Given the description of an element on the screen output the (x, y) to click on. 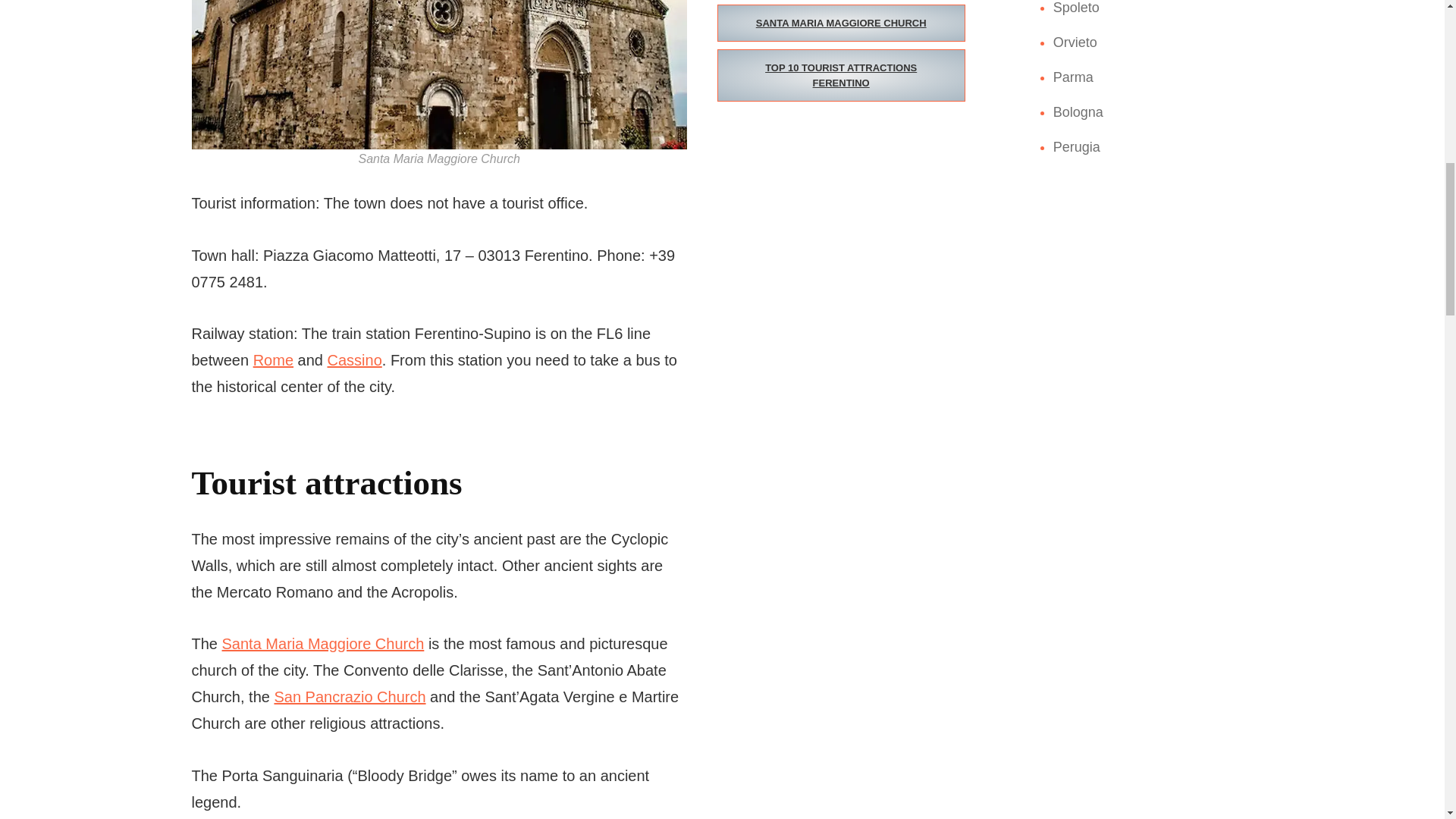
Rome (273, 360)
Cassino (354, 360)
San Pancrazio Church (349, 696)
SANTA MARIA MAGGIORE CHURCH (841, 23)
TOP 10 TOURIST ATTRACTIONS FERENTINO (841, 75)
Santa Maria Maggiore Church (323, 643)
